Given the description of an element on the screen output the (x, y) to click on. 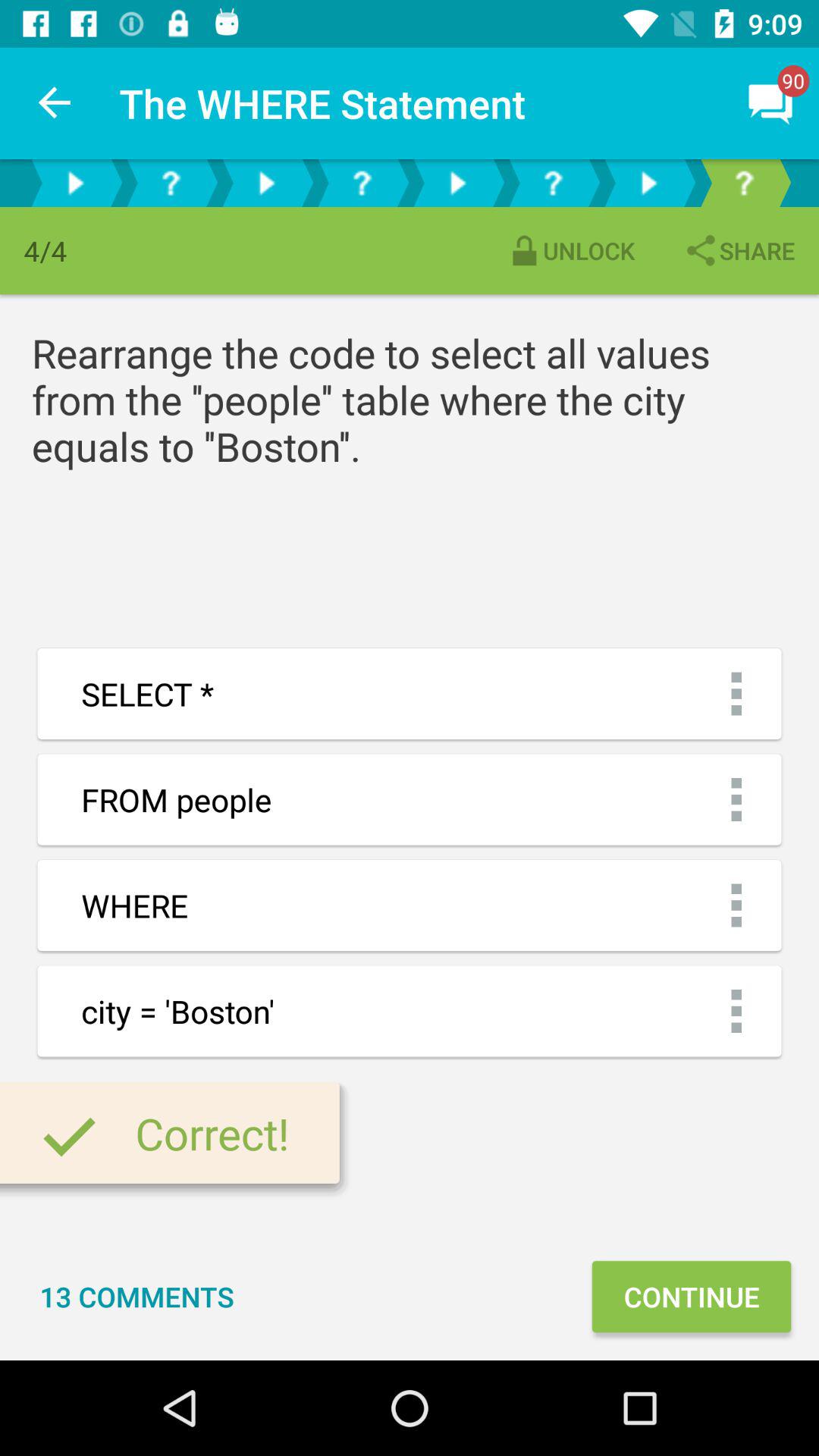
press 13 comments icon (136, 1296)
